Given the description of an element on the screen output the (x, y) to click on. 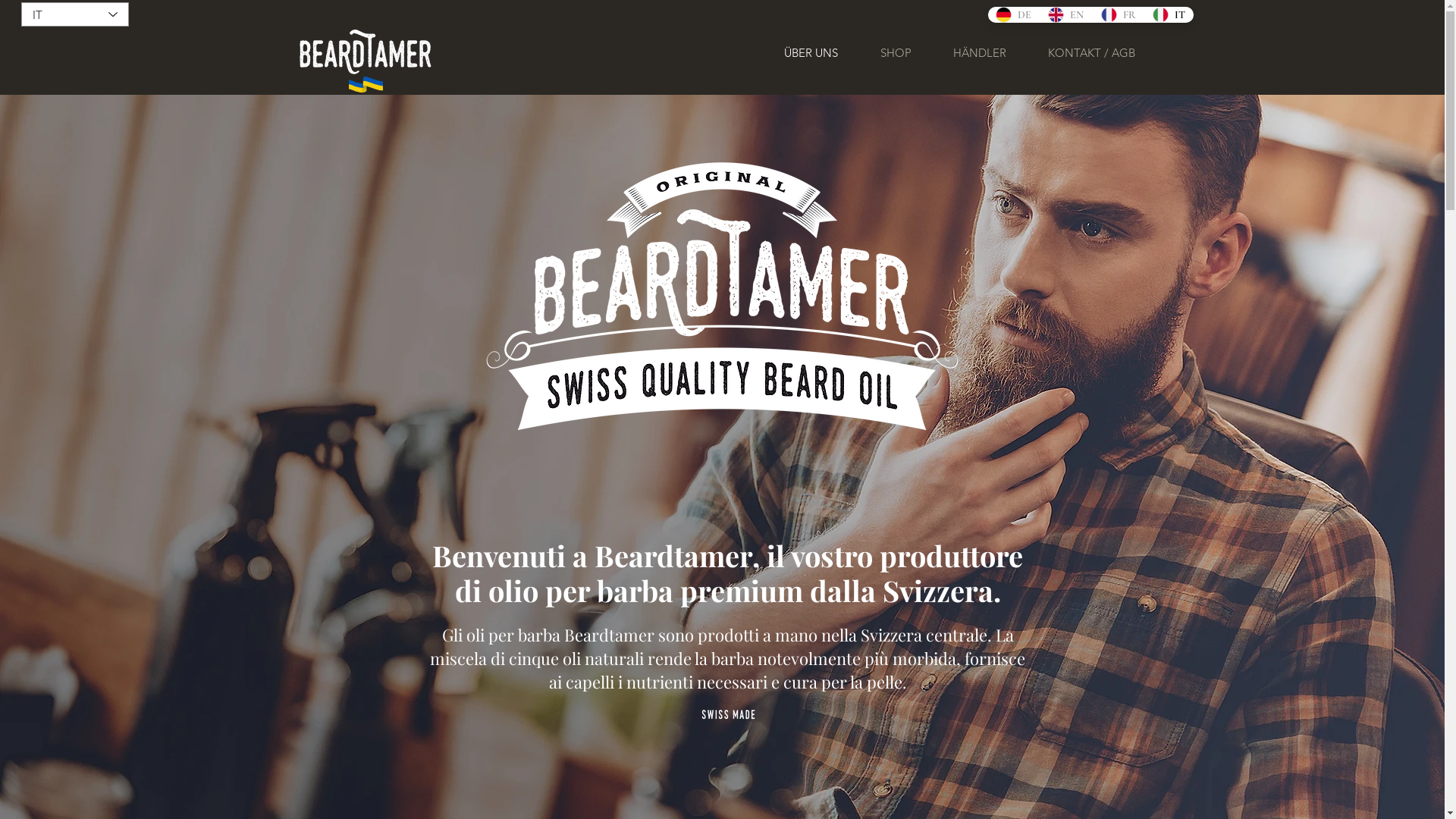
EN Element type: text (1065, 14)
KONTAKT / AGB Element type: text (1090, 52)
SHOP Element type: text (894, 52)
FR Element type: text (1117, 14)
IT Element type: text (1167, 14)
DE Element type: text (1012, 14)
